Given the description of an element on the screen output the (x, y) to click on. 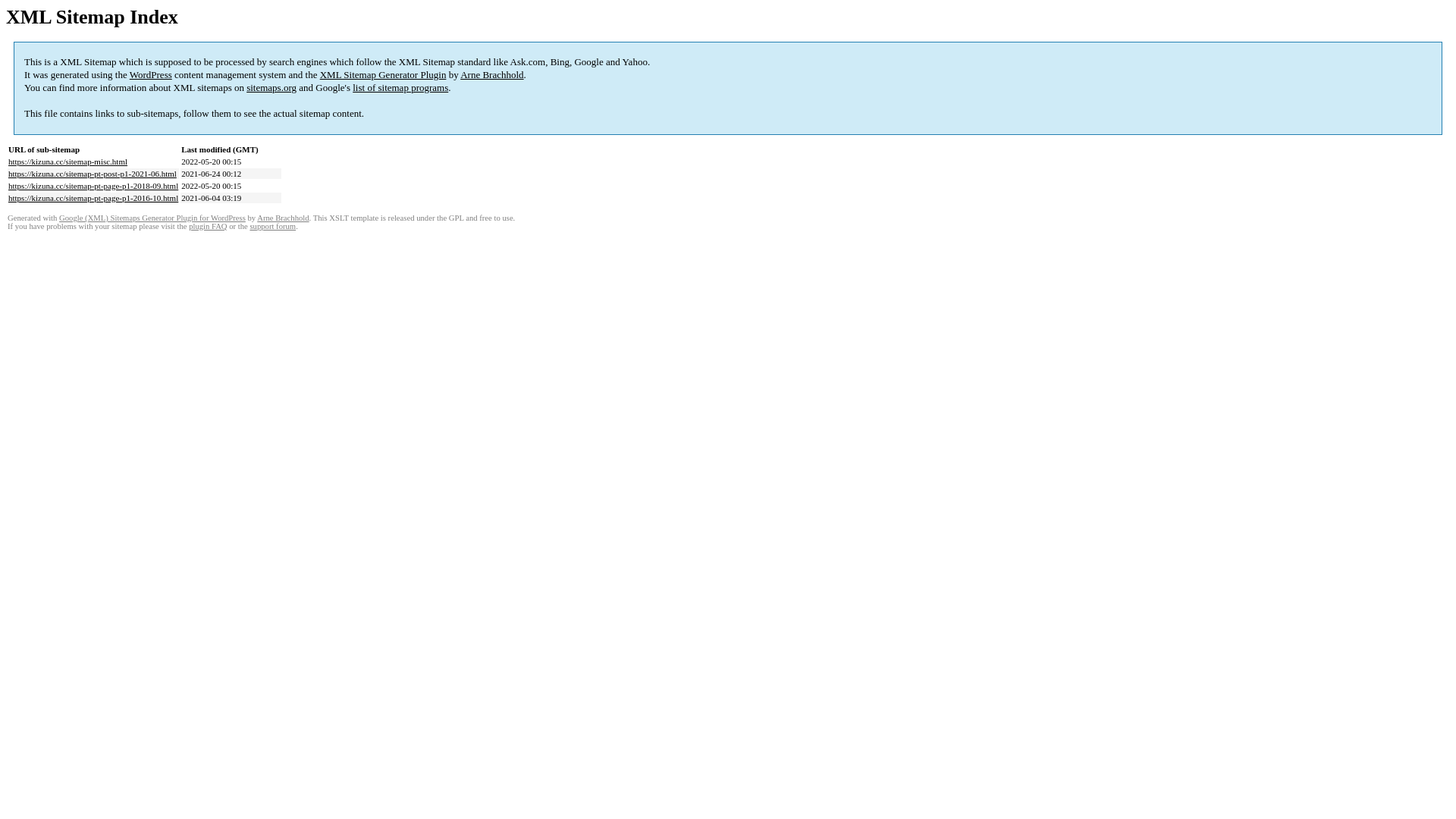
XML Sitemap Generator Plugin Element type: text (383, 74)
Arne Brachhold Element type: text (491, 74)
Arne Brachhold Element type: text (282, 217)
https://kizuna.cc/sitemap-pt-page-p1-2018-09.html Element type: text (93, 185)
https://kizuna.cc/sitemap-pt-post-p1-2021-06.html Element type: text (92, 173)
sitemaps.org Element type: text (271, 87)
plugin FAQ Element type: text (207, 226)
support forum Element type: text (272, 226)
https://kizuna.cc/sitemap-pt-page-p1-2016-10.html Element type: text (93, 197)
WordPress Element type: text (150, 74)
Google (XML) Sitemaps Generator Plugin for WordPress Element type: text (152, 217)
list of sitemap programs Element type: text (400, 87)
https://kizuna.cc/sitemap-misc.html Element type: text (67, 161)
